Given the description of an element on the screen output the (x, y) to click on. 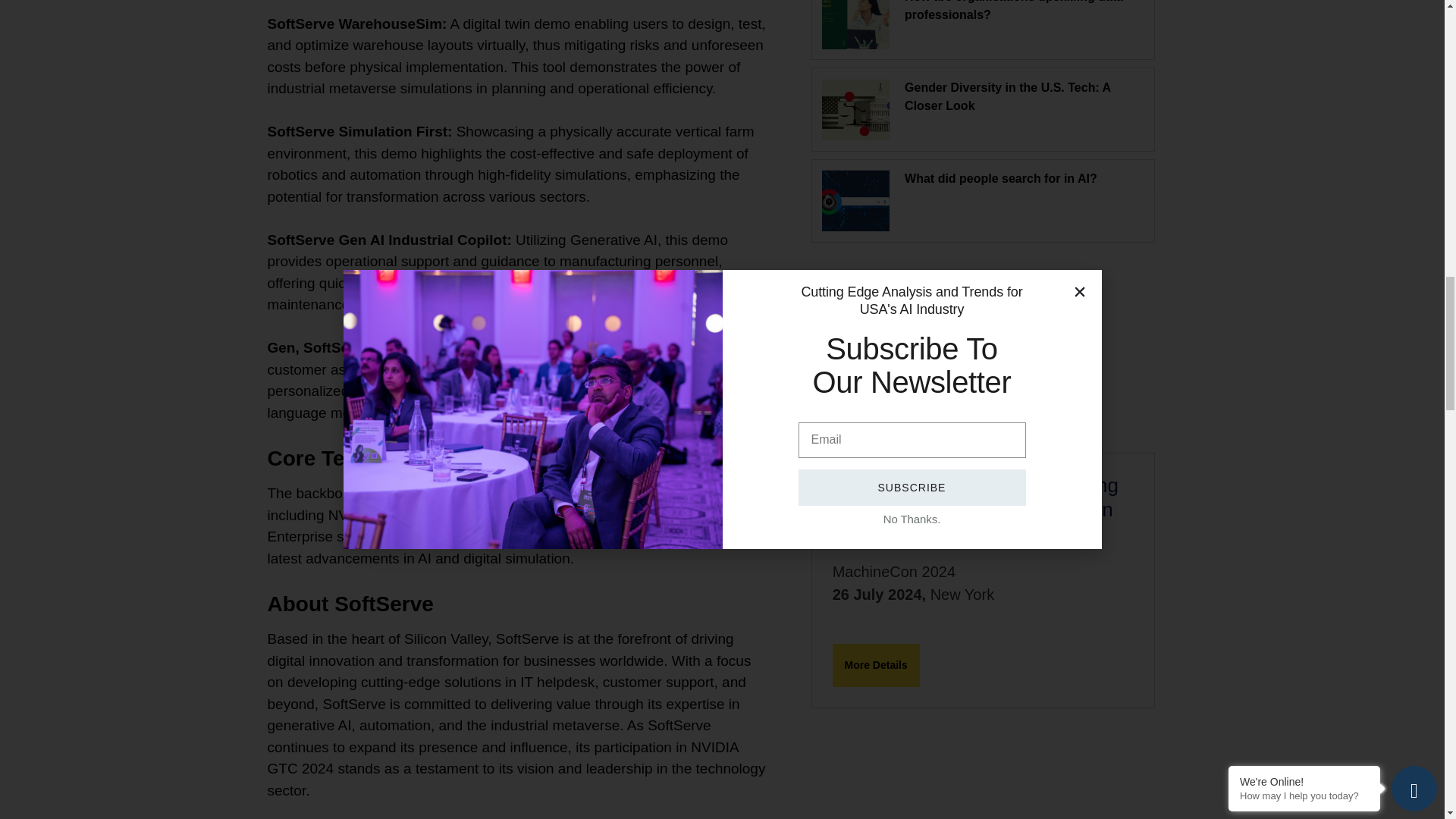
More Details (876, 665)
Gender Diversity in the U.S. Tech: A Closer Look (1006, 96)
What did people search for in AI? (1000, 178)
How are organisations upskilling data professionals? (1013, 10)
